Given the description of an element on the screen output the (x, y) to click on. 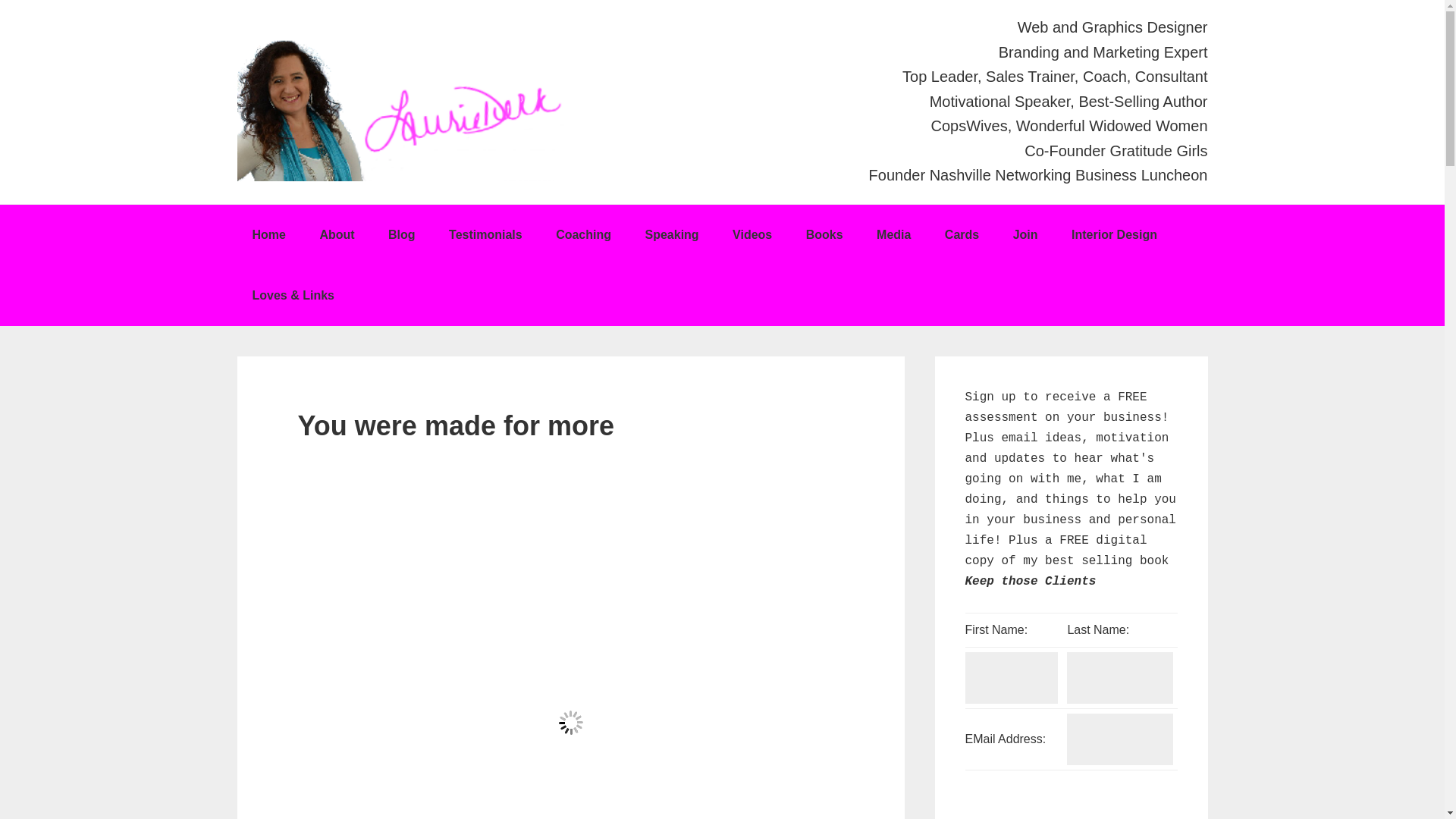
Testimonials (485, 234)
Speaking (670, 234)
Join (1024, 234)
Coaching (583, 234)
Cards (962, 234)
Videos (752, 234)
Home (267, 234)
Interior Design (1114, 234)
Blog (401, 234)
About (336, 234)
Books (824, 234)
Media (893, 234)
